Given the description of an element on the screen output the (x, y) to click on. 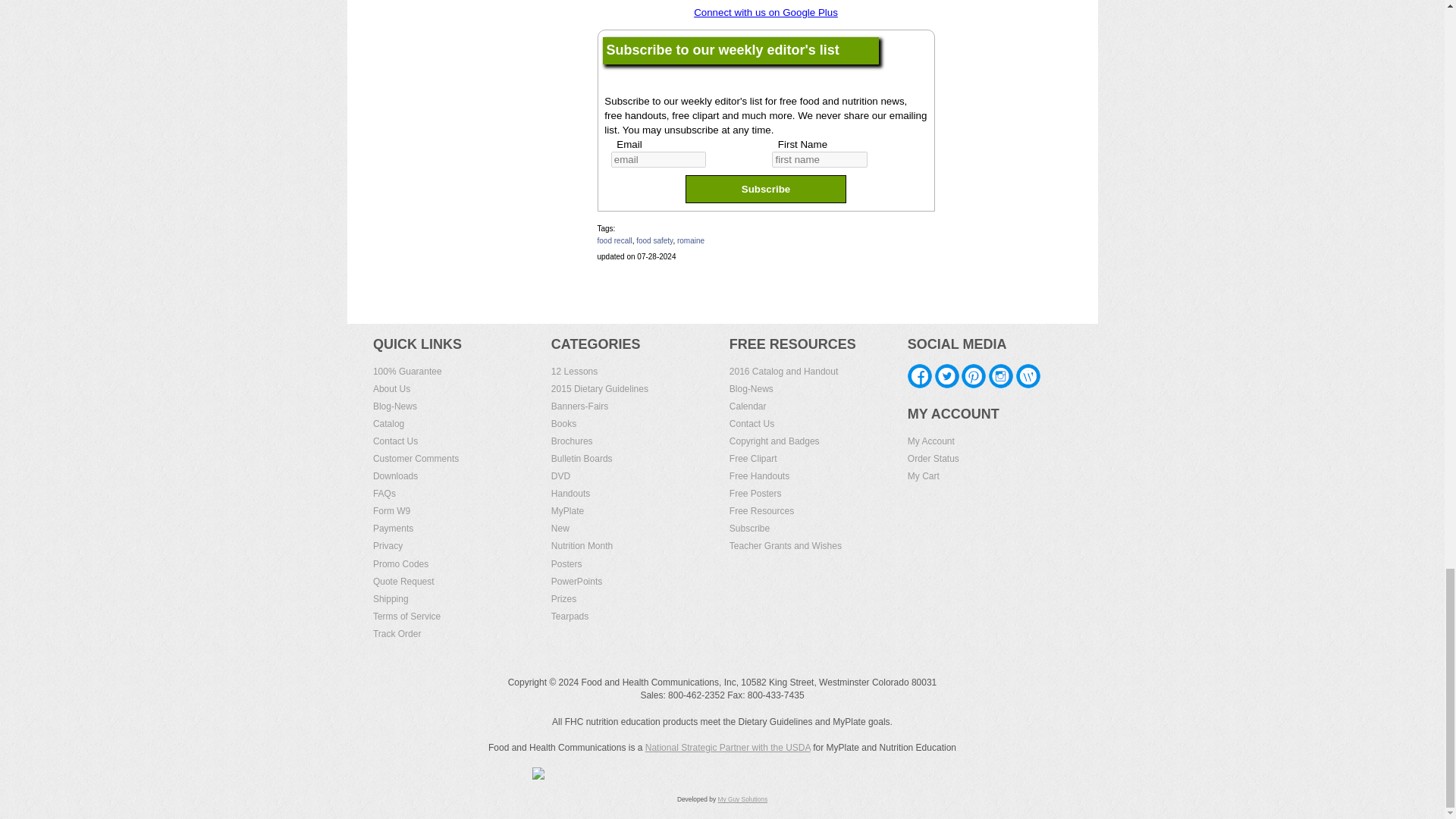
Subscribe (766, 189)
